Given the description of an element on the screen output the (x, y) to click on. 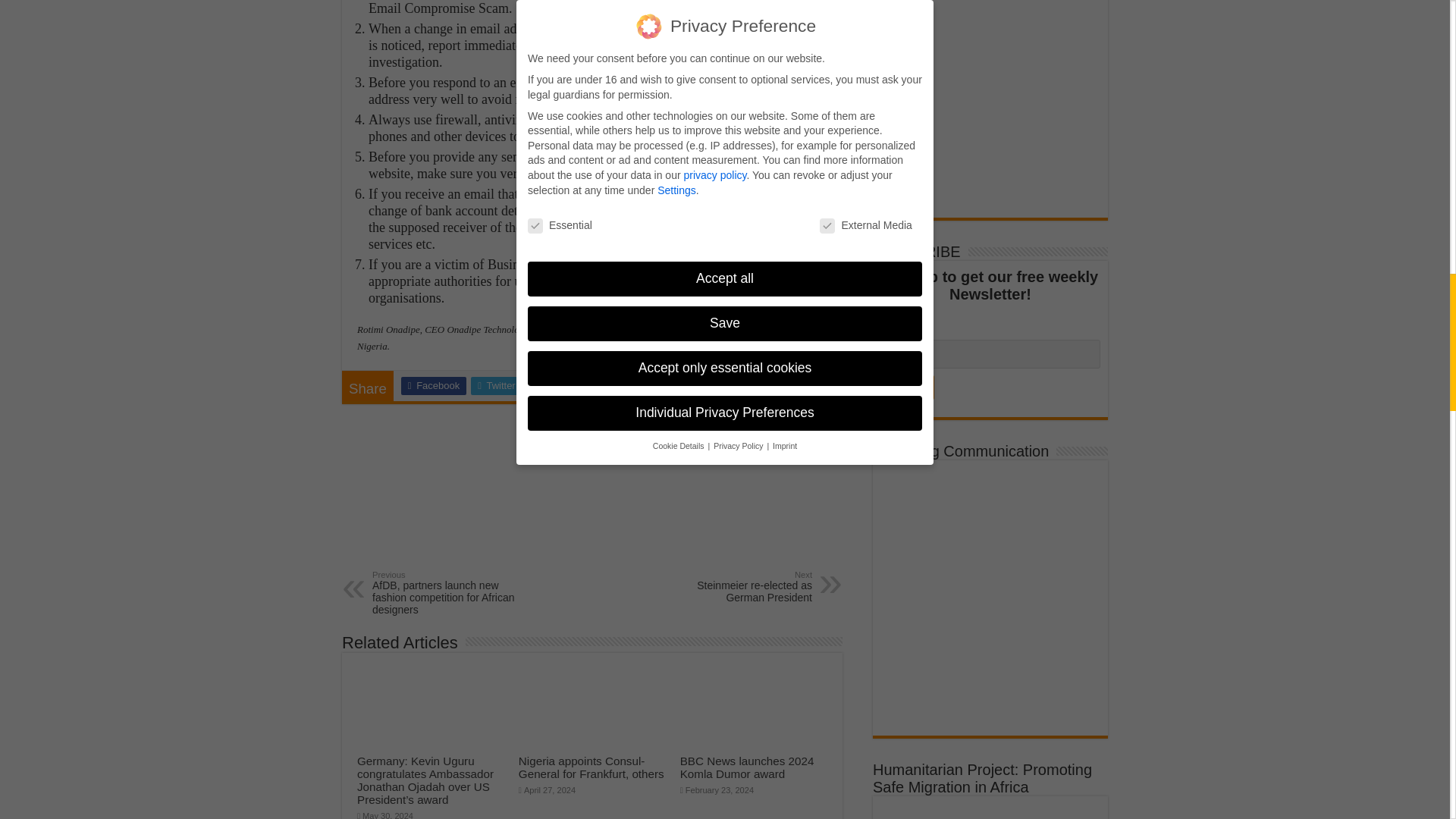
Subscribe (907, 387)
